Given the description of an element on the screen output the (x, y) to click on. 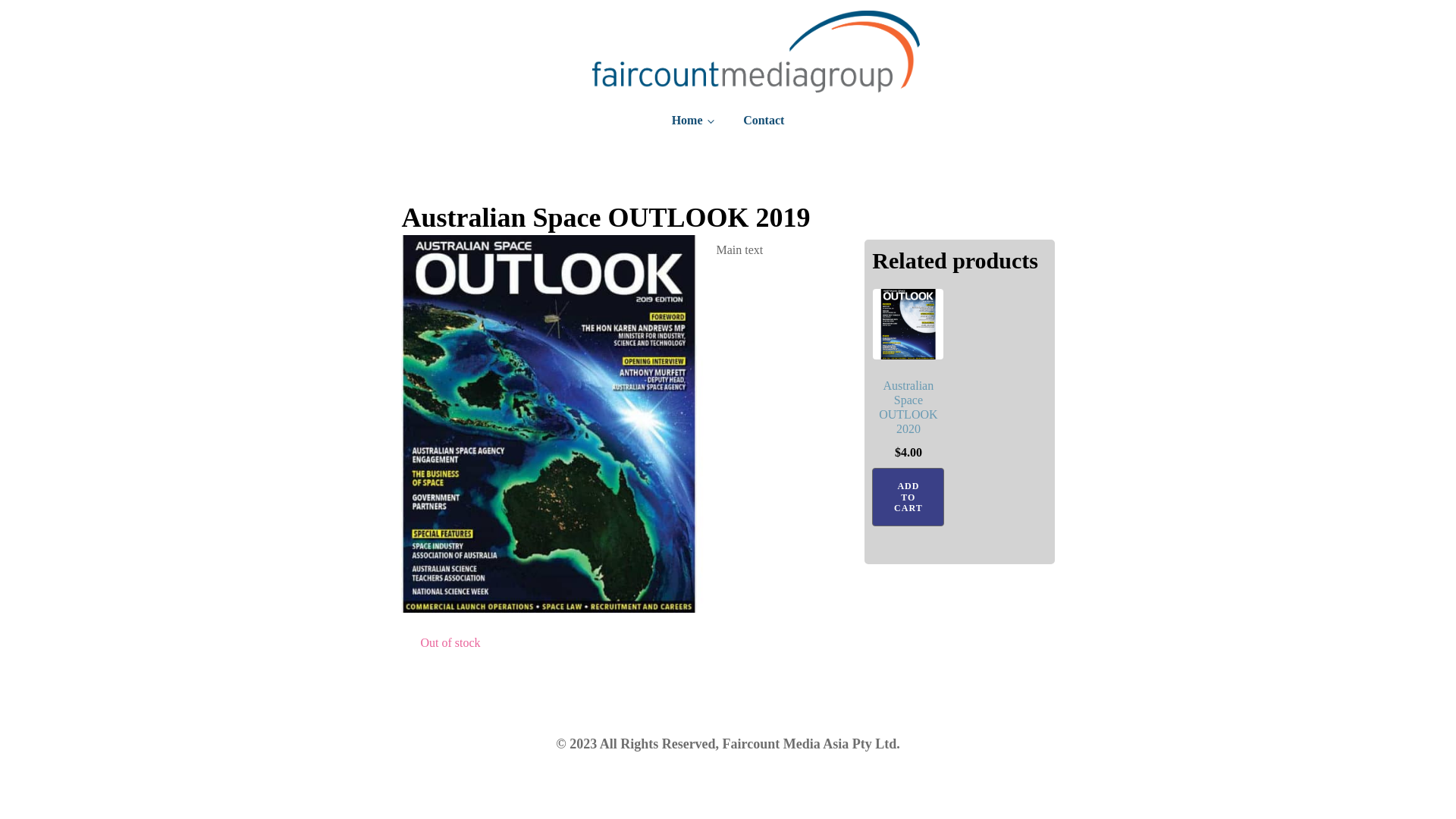
Home Element type: text (692, 120)
Contact Element type: text (763, 120)
ASOUT19 white bars Element type: hover (548, 423)
Australian Space OUTLOOK 2020
$4.00 Element type: text (908, 377)
ADD TO CART Element type: text (908, 496)
